Given the description of an element on the screen output the (x, y) to click on. 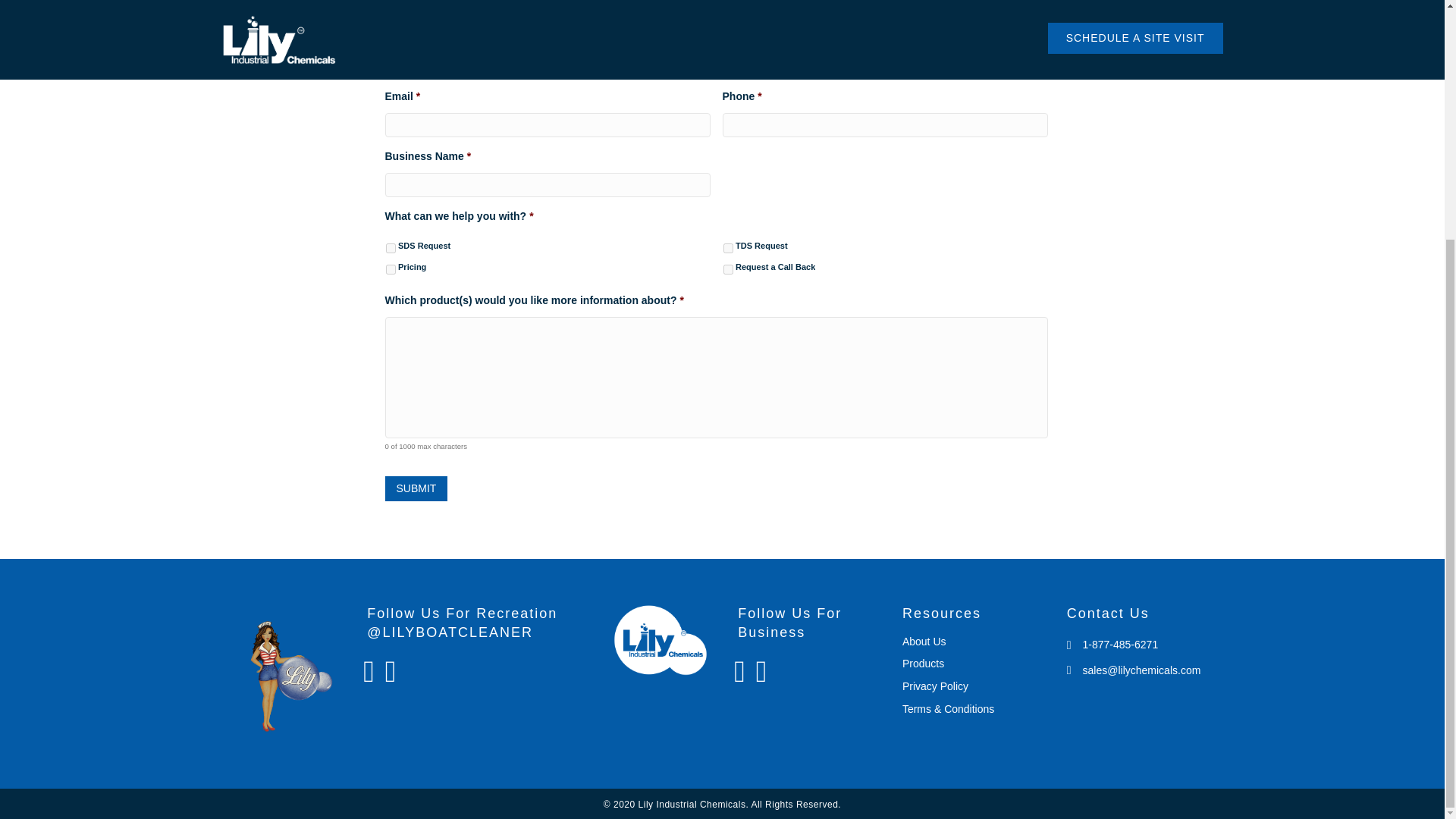
About Us (924, 641)
Privacy Policy (935, 686)
LilyLogo-WhtCircle-01-01 (659, 639)
Pricing (389, 269)
SDS Request (389, 248)
Request a Call Back (728, 269)
SUBMIT (416, 488)
SUBMIT (416, 488)
Products (922, 663)
1-877-485-6271 (1120, 645)
